Given the description of an element on the screen output the (x, y) to click on. 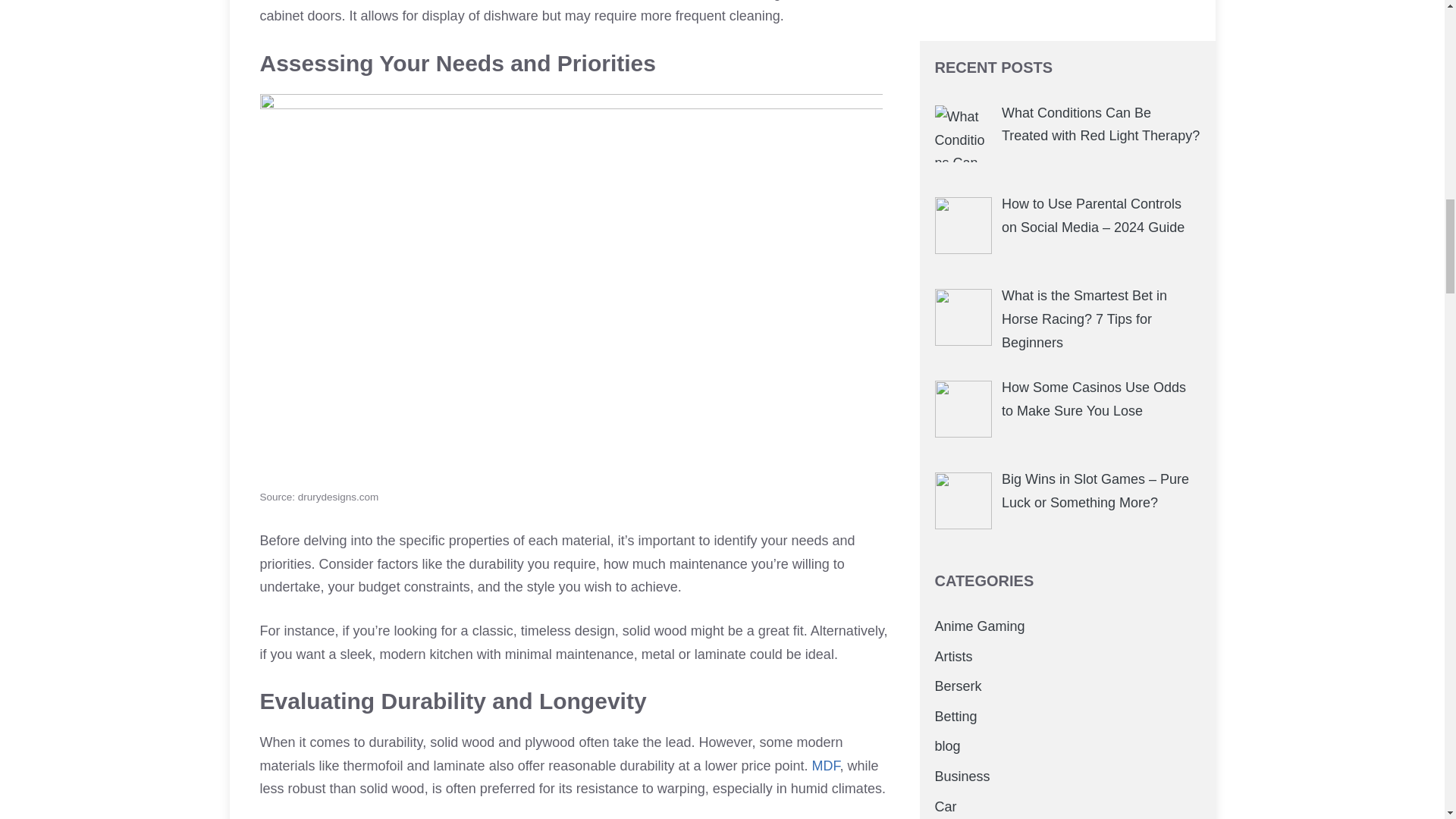
MDF (826, 765)
